Given the description of an element on the screen output the (x, y) to click on. 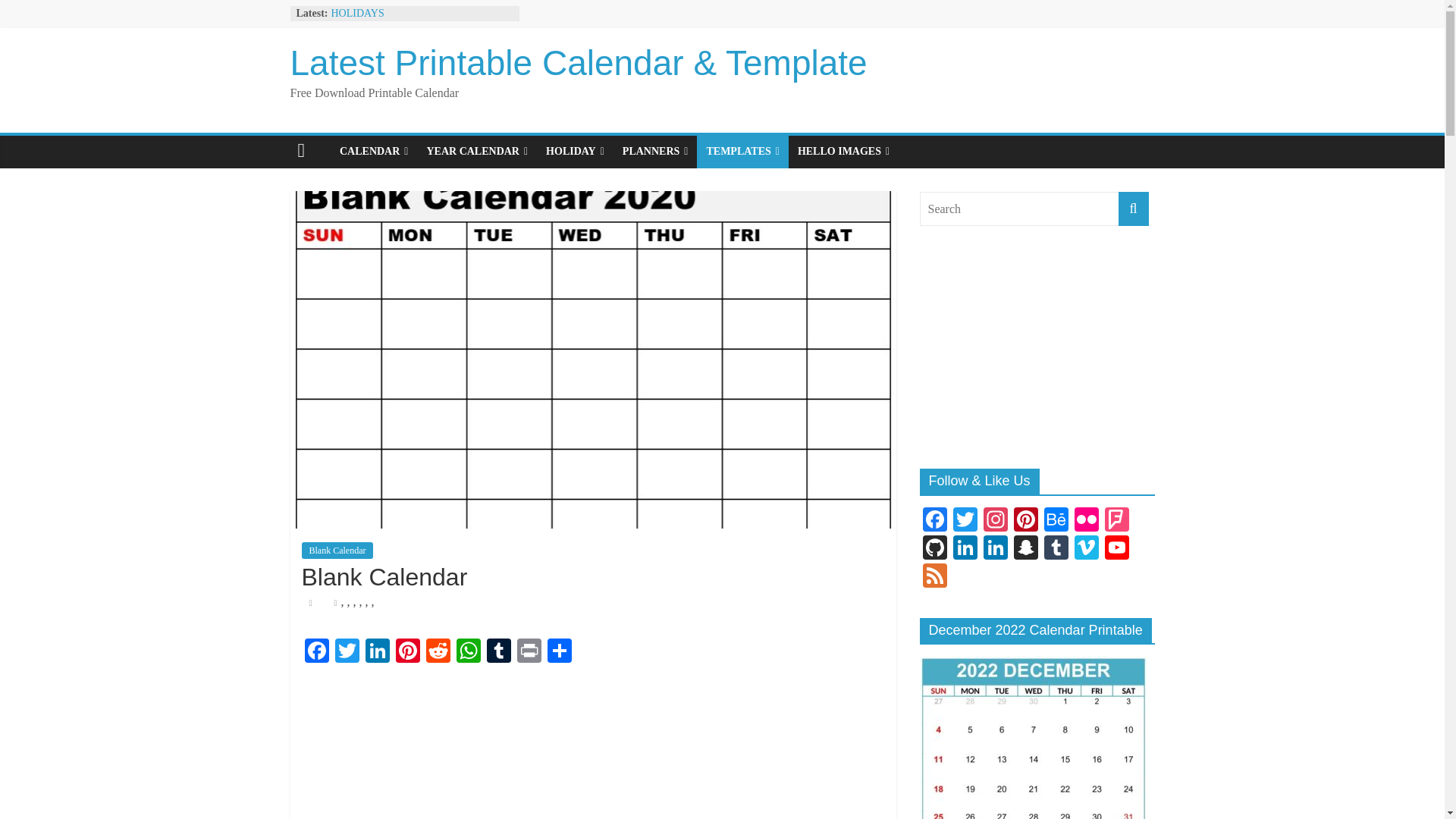
JUNE 2022 CALENDAR WITH HOLIDAYS (400, 9)
Twitter (346, 652)
CALENDAR (373, 151)
LinkedIn (377, 652)
WhatsApp (467, 652)
Reddit (437, 652)
Tumblr (498, 652)
JUNE 2022 CALENDAR WITH HOLIDAYS (400, 9)
Pinterest (408, 652)
Facebook (316, 652)
